Given the description of an element on the screen output the (x, y) to click on. 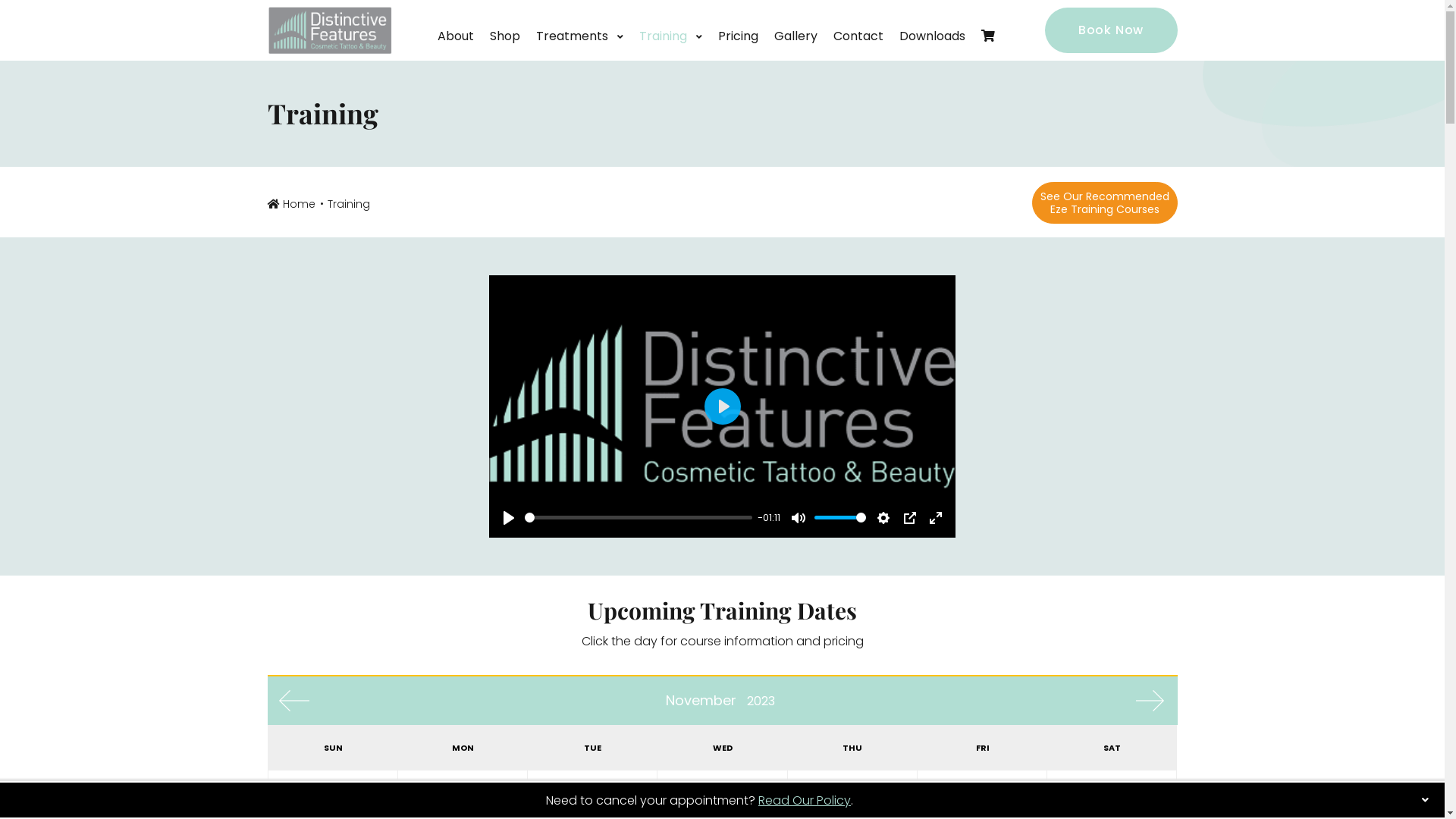
Treatments Element type: text (578, 51)
PIP Element type: text (909, 517)
Settings Element type: text (883, 517)
Home Element type: text (294, 203)
See Our Recommended
Eze Training Courses Element type: text (1103, 203)
Enter fullscreen Element type: text (935, 517)
Gallery Element type: text (794, 51)
Shop Element type: text (504, 51)
Play Element type: text (721, 406)
Downloads Element type: text (932, 51)
Play Element type: text (508, 517)
Book Now Element type: text (1110, 30)
Read Our Policy Element type: text (804, 800)
Training Element type: text (669, 51)
About Element type: text (454, 51)
Mute Element type: text (797, 517)
Pricing Element type: text (737, 51)
Contact Element type: text (857, 51)
